Given the description of an element on the screen output the (x, y) to click on. 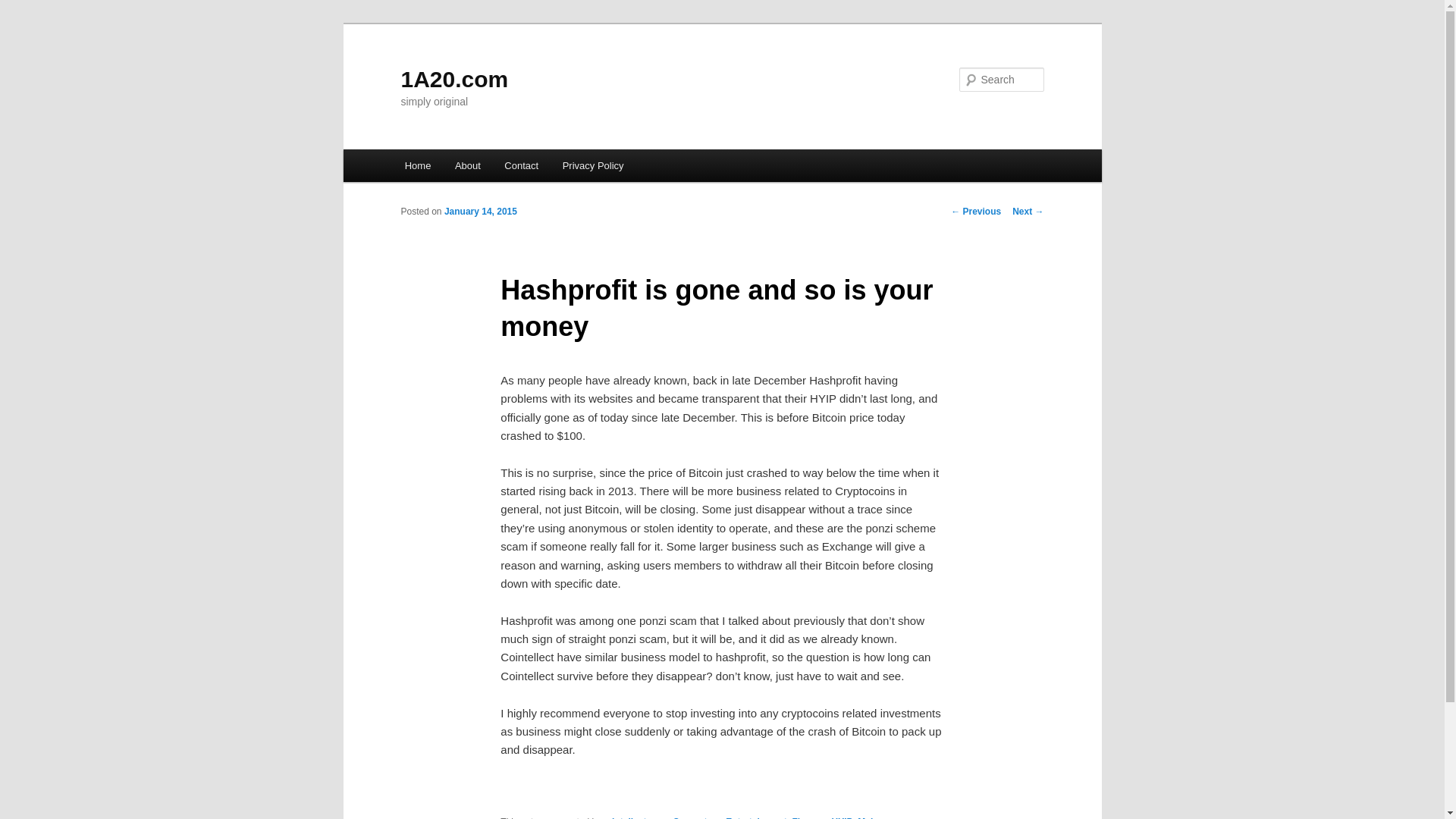
Search Element type: text (24, 8)
Contact Element type: text (521, 165)
Skip to primary content Element type: text (22, 22)
January 14, 2015 Element type: text (480, 211)
Home Element type: text (417, 165)
About Element type: text (467, 165)
Privacy Policy Element type: text (592, 165)
1A20.com Element type: text (454, 78)
